Given the description of an element on the screen output the (x, y) to click on. 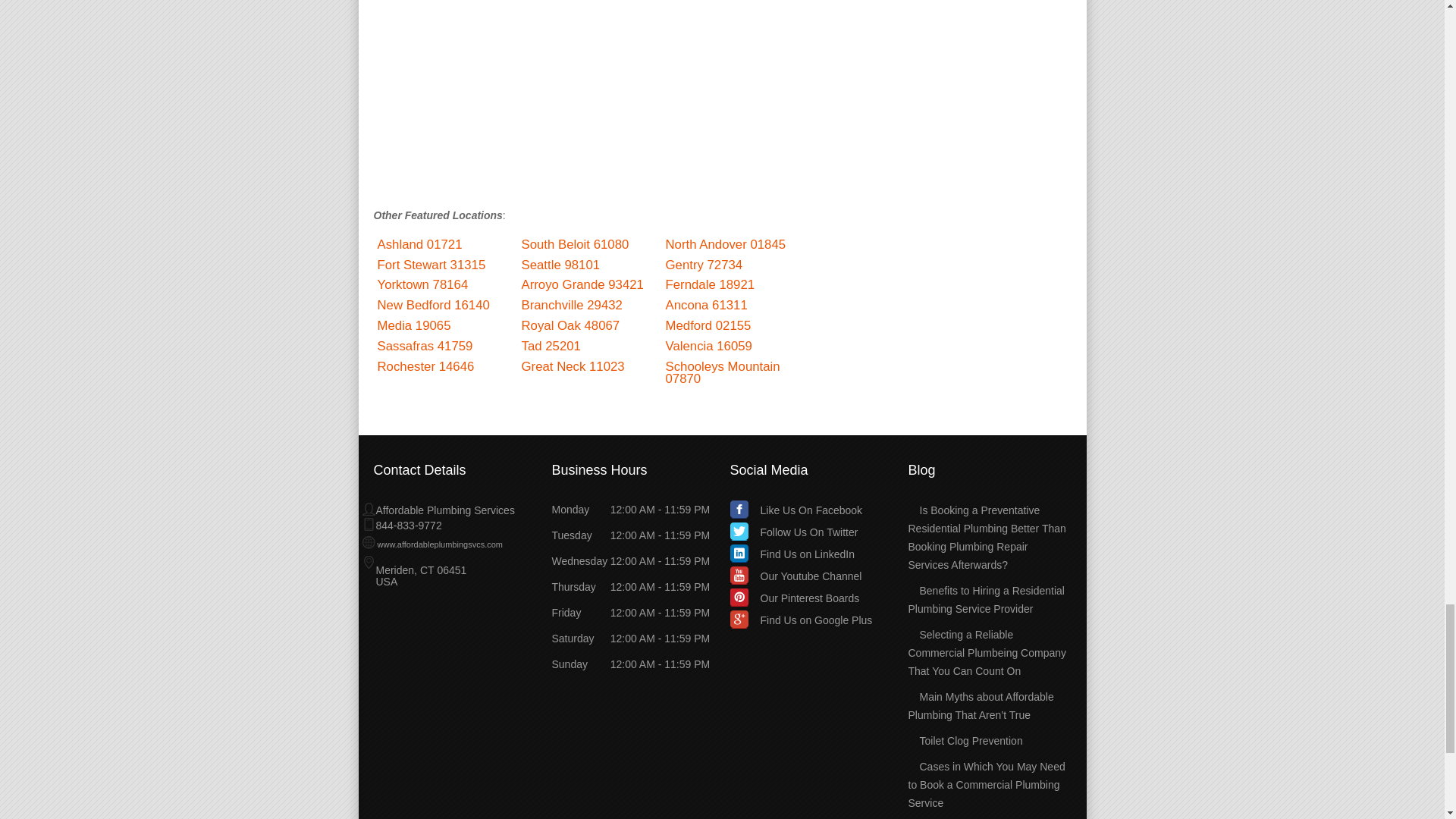
Yorktown 78164 (422, 284)
Seattle 98101 (560, 264)
New Bedford 16140 (433, 305)
North Andover 01845 (725, 244)
South Beloit 61080 (574, 244)
Ferndale 18921 (710, 284)
Gentry 72734 (703, 264)
Ashland 01721 (420, 244)
Arroyo Grande 93421 (582, 284)
Ancona 61311 (706, 305)
